Given the description of an element on the screen output the (x, y) to click on. 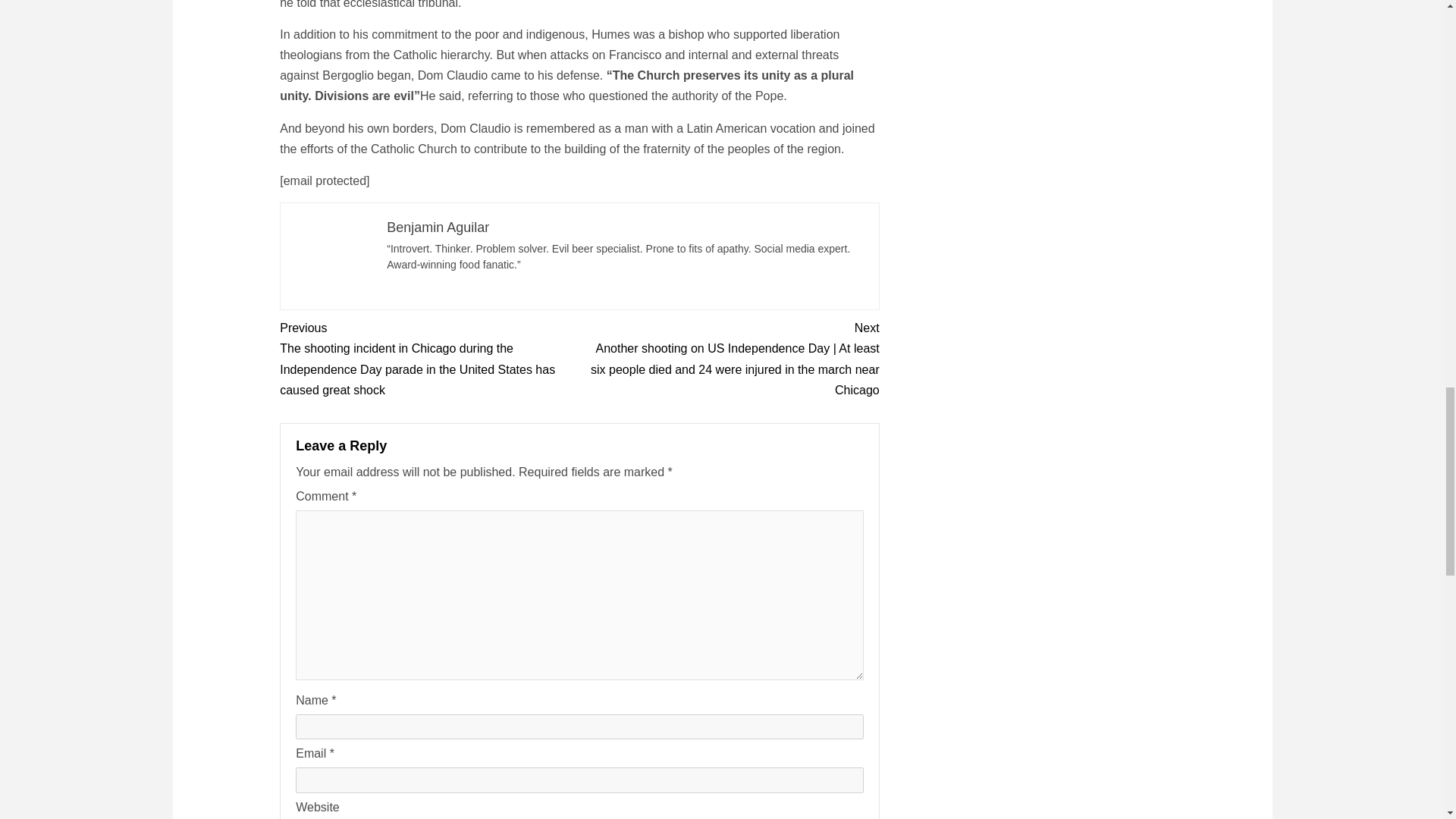
Benjamin Aguilar (438, 227)
